Given the description of an element on the screen output the (x, y) to click on. 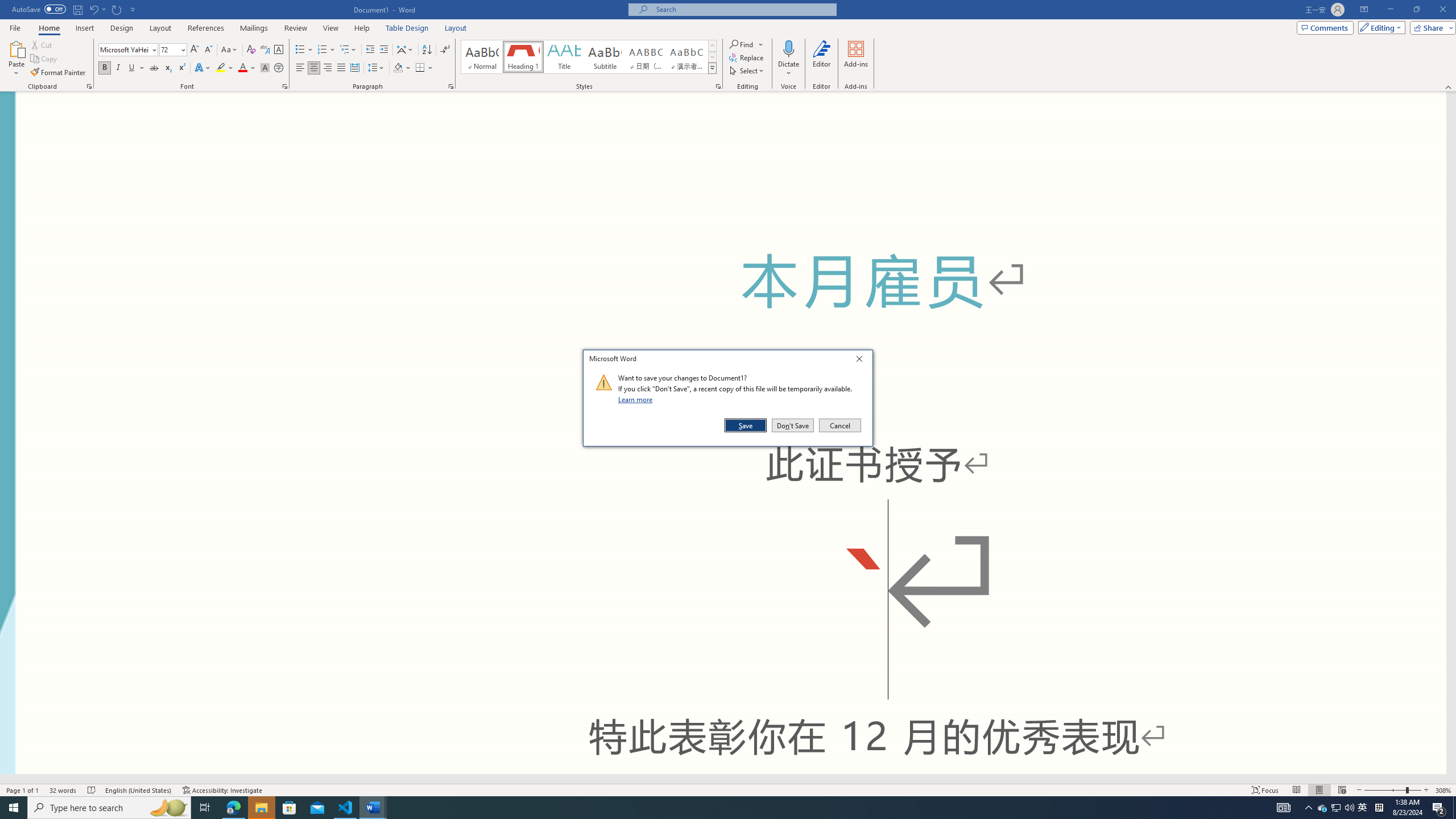
Search highlights icon opens search home window (167, 807)
Paragraph... (450, 85)
Styles (711, 67)
Clear Formatting (250, 49)
Accessibility Checker Accessibility: Investigate (222, 790)
Strikethrough (154, 67)
Grow Font (193, 49)
Microsoft search (1322, 807)
Undo Grow Font (742, 9)
